Given the description of an element on the screen output the (x, y) to click on. 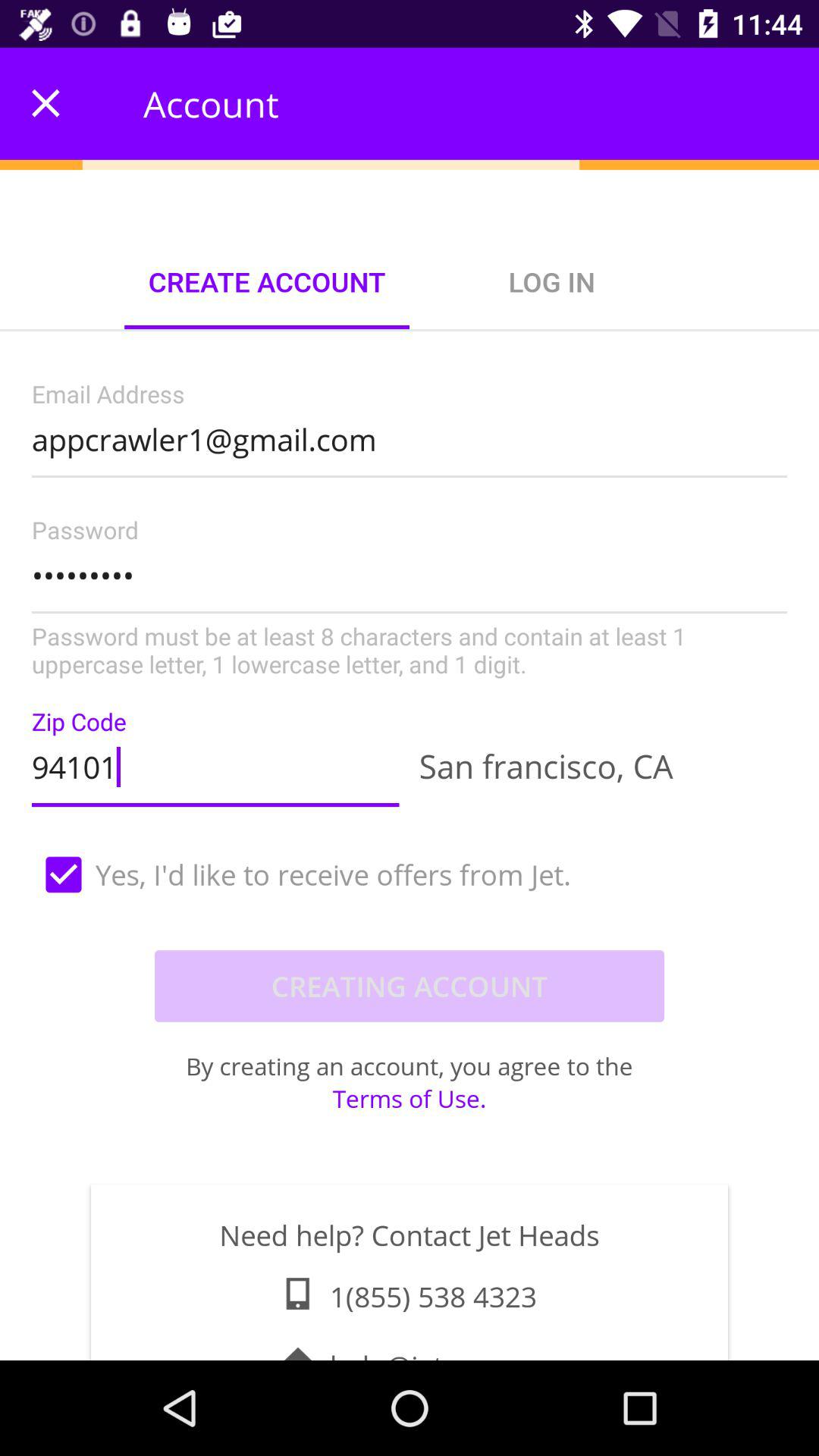
jump until the appcrawler1@gmail.com item (409, 435)
